Given the description of an element on the screen output the (x, y) to click on. 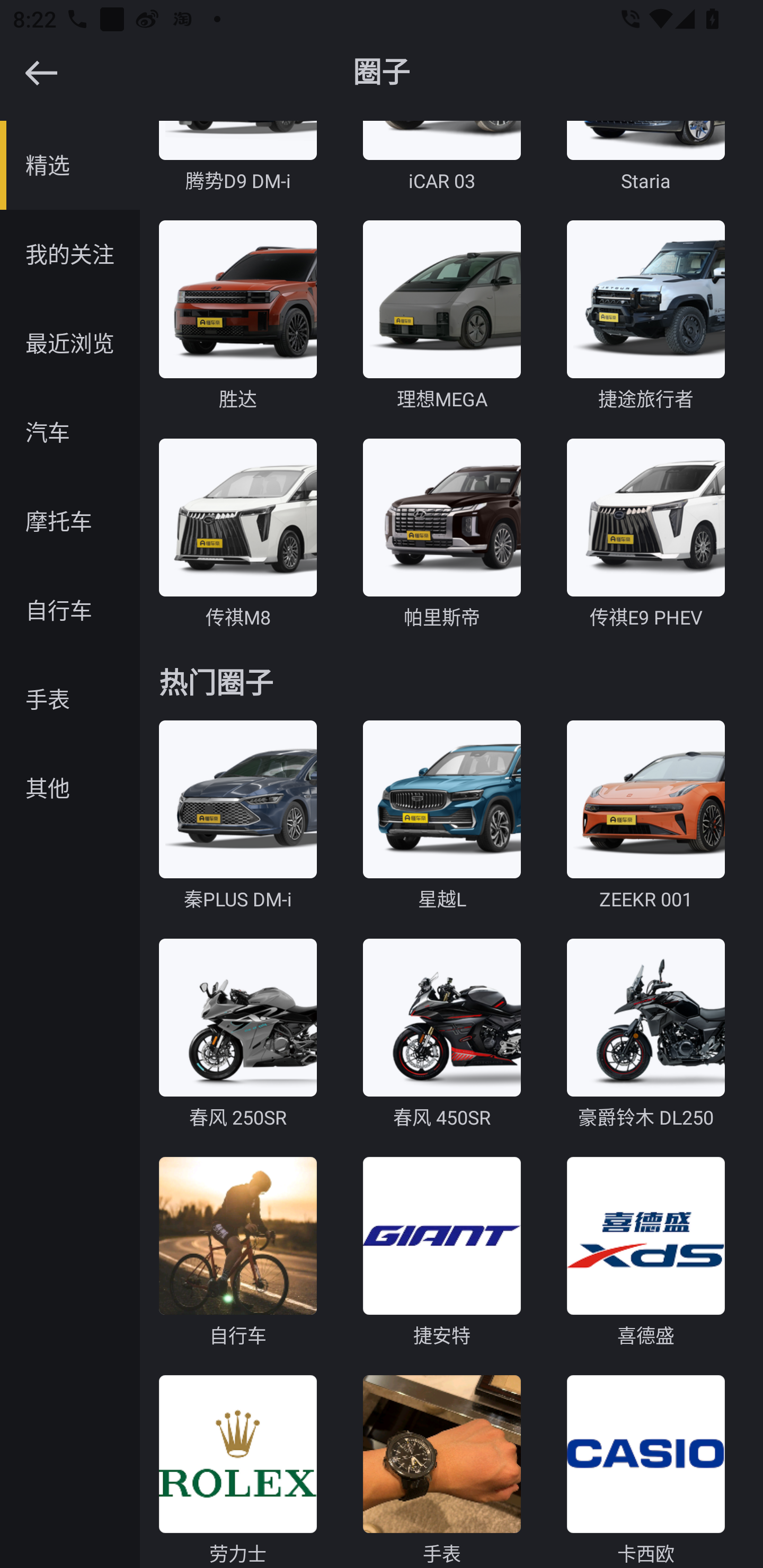
精选 (69, 165)
我的关注 (69, 254)
胜达 (237, 317)
理想MEGA (442, 317)
捷途旅行者 (645, 317)
最近浏览 (69, 343)
汽车 (69, 431)
传祺M8 (237, 535)
帕里斯帝 (442, 535)
传祺E9 PHEV (645, 535)
摩托车 (69, 521)
自行车 (69, 610)
手表 (69, 699)
秦PLUS DM-i (237, 815)
星越L (442, 815)
ZEEKR 001 (645, 815)
其他 (69, 787)
春风 250SR (237, 1035)
春风 450SR (442, 1035)
豪爵铃木 DL250 (645, 1035)
自行车 (237, 1253)
捷安特 (442, 1253)
喜德盛 (645, 1253)
劳力士 (237, 1471)
手表 (442, 1471)
卡西欧 (645, 1471)
